Given the description of an element on the screen output the (x, y) to click on. 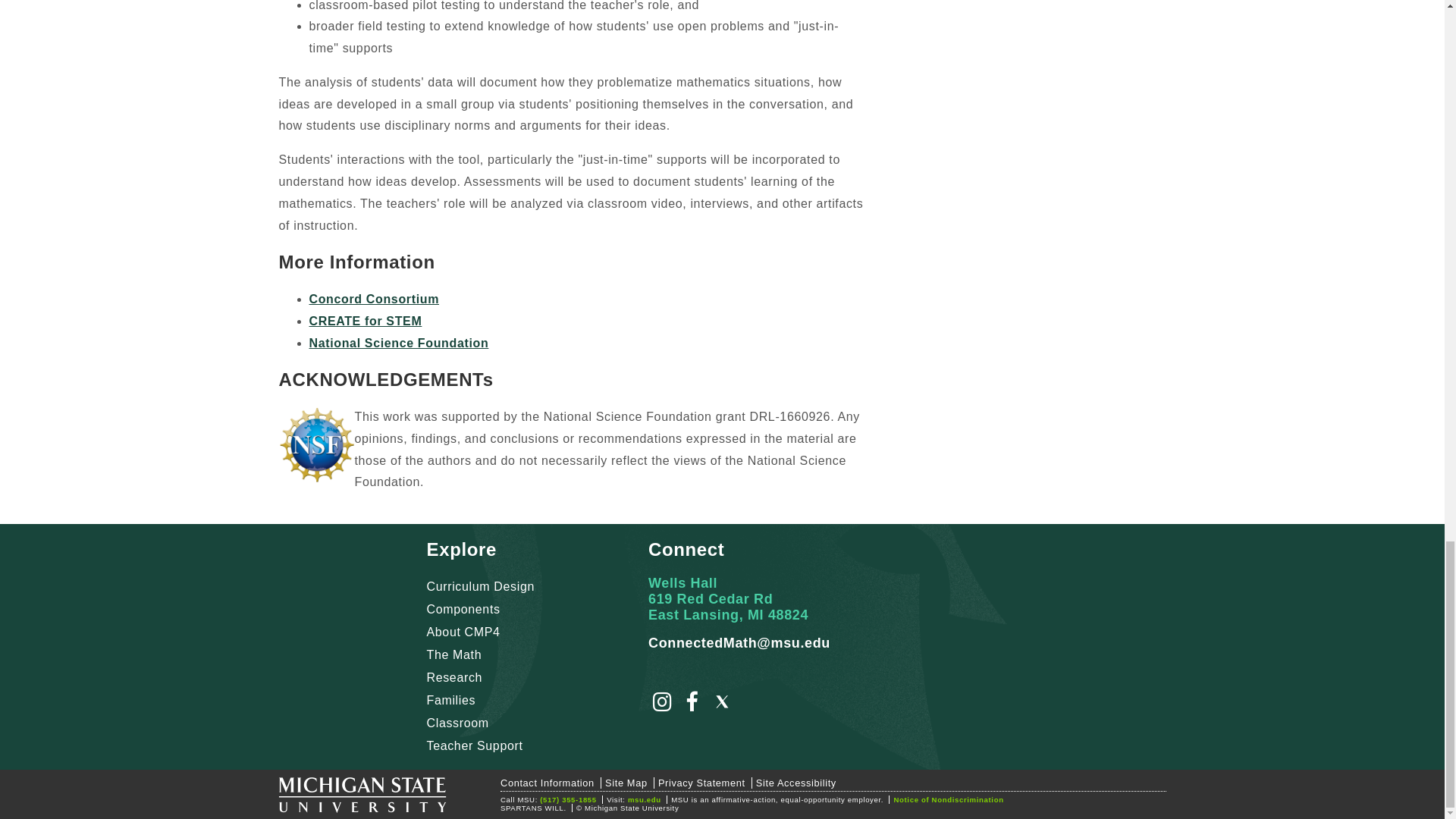
X (722, 704)
Call MSU (568, 799)
Michigan State University (362, 798)
Instagram (662, 704)
